Given the description of an element on the screen output the (x, y) to click on. 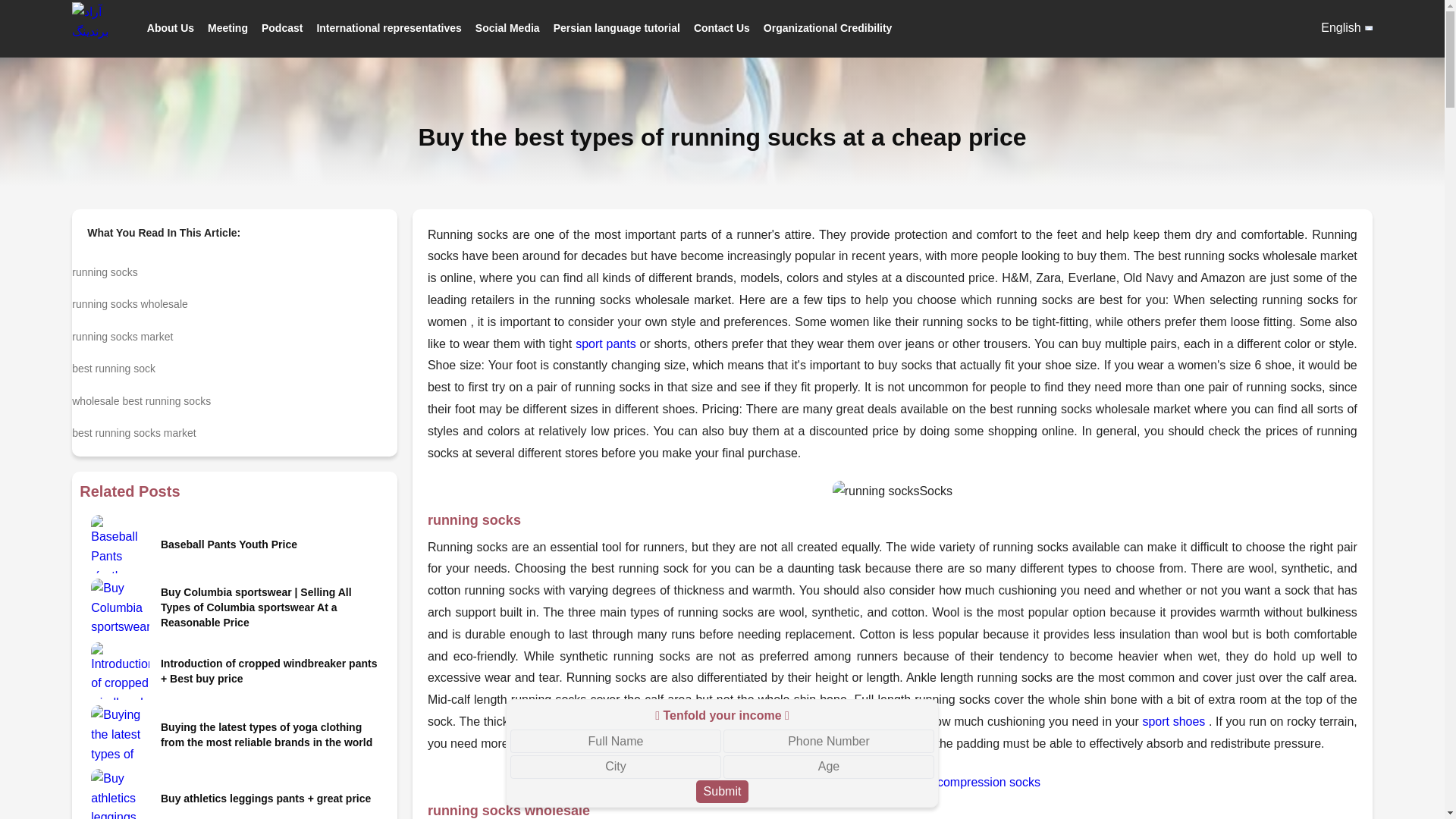
running socks wholesale (234, 300)
running socks (234, 268)
Meeting (227, 27)
best running socks market (234, 428)
About Us (170, 27)
wholesale best running socks (234, 396)
Baseball Pants Youth Price (270, 544)
sport shoes (1173, 721)
Podcast (282, 27)
